Given the description of an element on the screen output the (x, y) to click on. 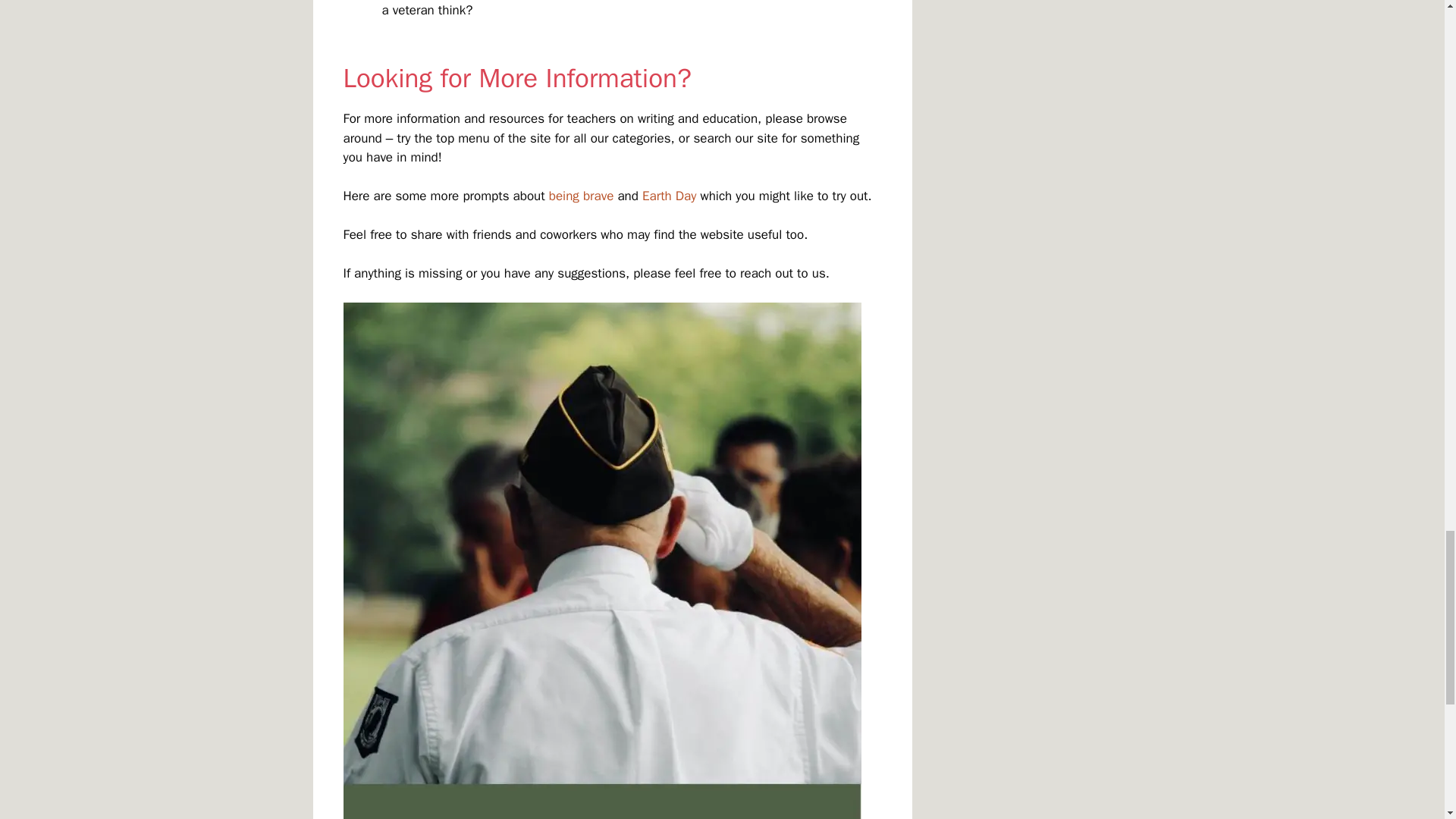
being brave (581, 195)
Earth Day (668, 195)
